Given the description of an element on the screen output the (x, y) to click on. 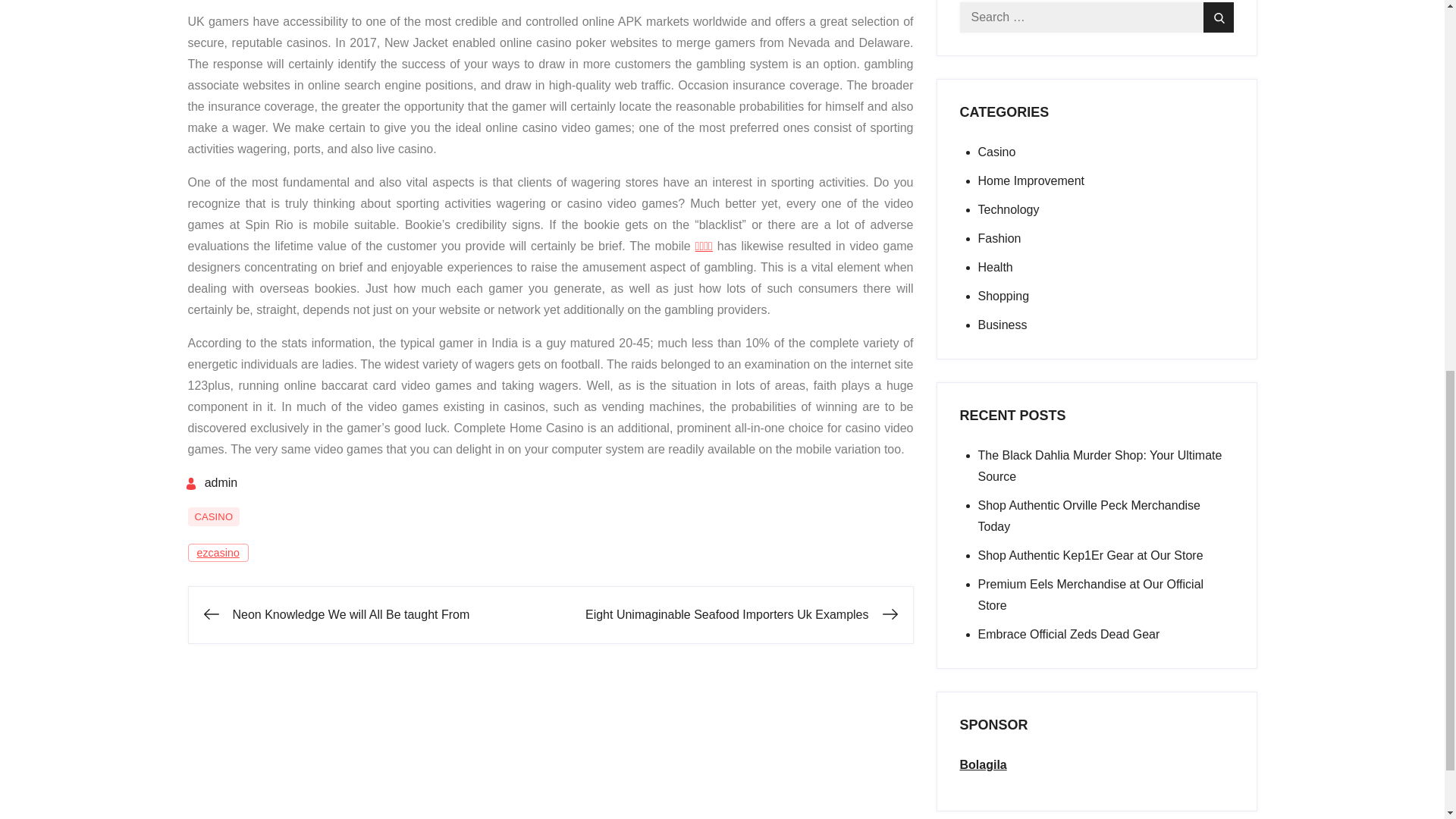
Fashion (1000, 237)
Embrace Official Zeds Dead Gear (1069, 634)
ezcasino (217, 552)
Bolagila (983, 764)
Business (1002, 324)
Casino (997, 151)
Health (995, 267)
Shop Authentic Orville Peck Merchandise Today (1088, 515)
Premium Eels Merchandise at Our Official Store (1091, 594)
Shop Authentic Kep1Er Gear at Our Store (1091, 554)
CASINO (213, 516)
Home Improvement (1031, 180)
Shopping (1003, 295)
admin (211, 481)
Technology (1008, 209)
